Given the description of an element on the screen output the (x, y) to click on. 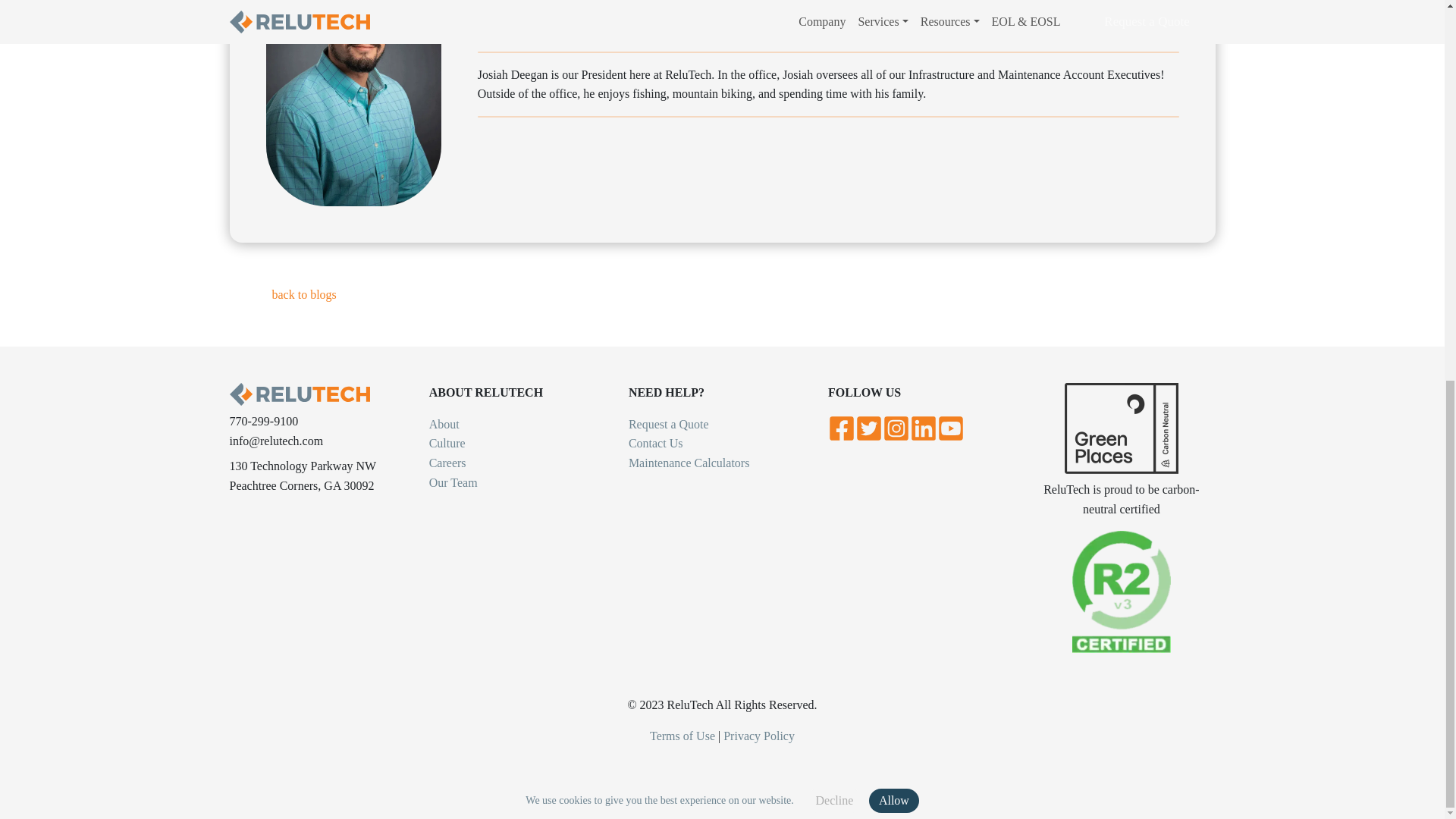
Terms of Use (681, 735)
About (444, 423)
back to blogs (303, 294)
Relutech logo (298, 394)
Maintenance Calculators (688, 462)
Green Places sustainability (1120, 428)
Contact Us (655, 442)
Allow (893, 90)
Privacy Policy (758, 735)
Decline (834, 90)
